Given the description of an element on the screen output the (x, y) to click on. 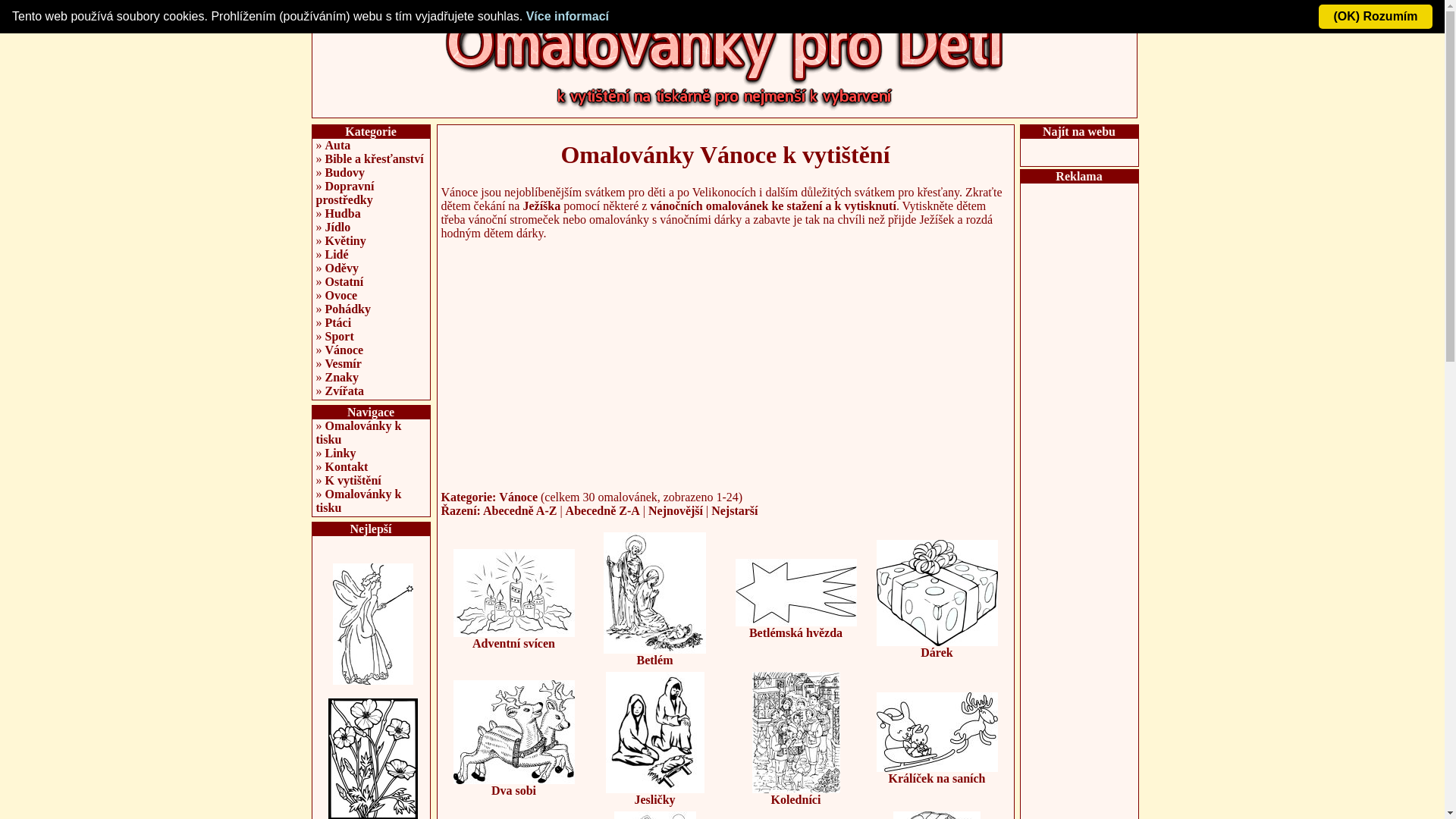
Advertisement Element type: hover (725, 358)
Dva sobi Element type: hover (513, 732)
Sport Element type: text (338, 335)
Budovy Element type: text (344, 172)
Kontakt Element type: text (345, 466)
Ovoce Element type: text (340, 294)
Znaky Element type: text (340, 376)
Auta Element type: text (337, 144)
Linky Element type: text (339, 452)
Dva sobi Element type: text (513, 785)
Hudba Element type: text (342, 213)
